Given the description of an element on the screen output the (x, y) to click on. 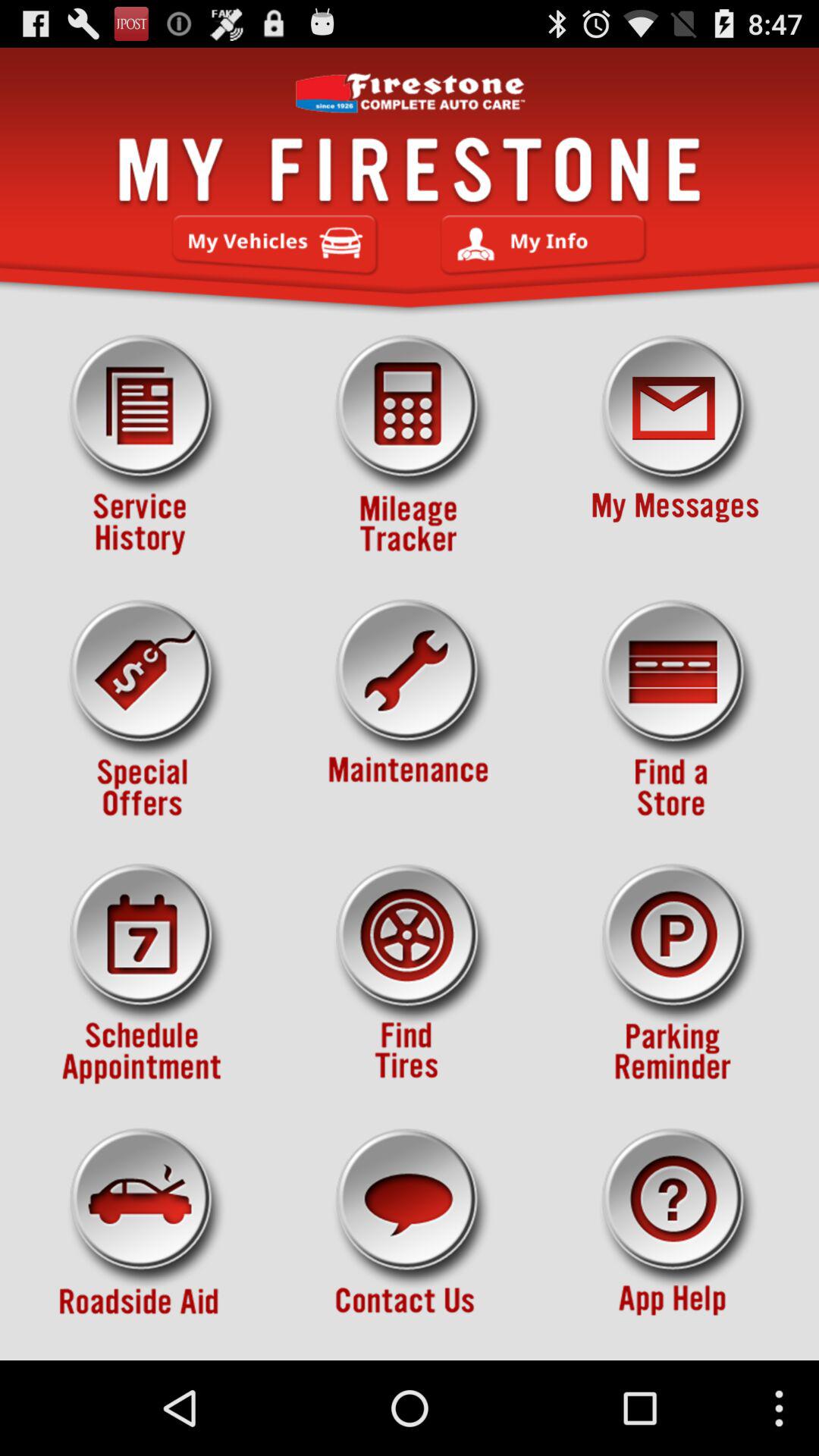
button to contact firestone (409, 1238)
